Given the description of an element on the screen output the (x, y) to click on. 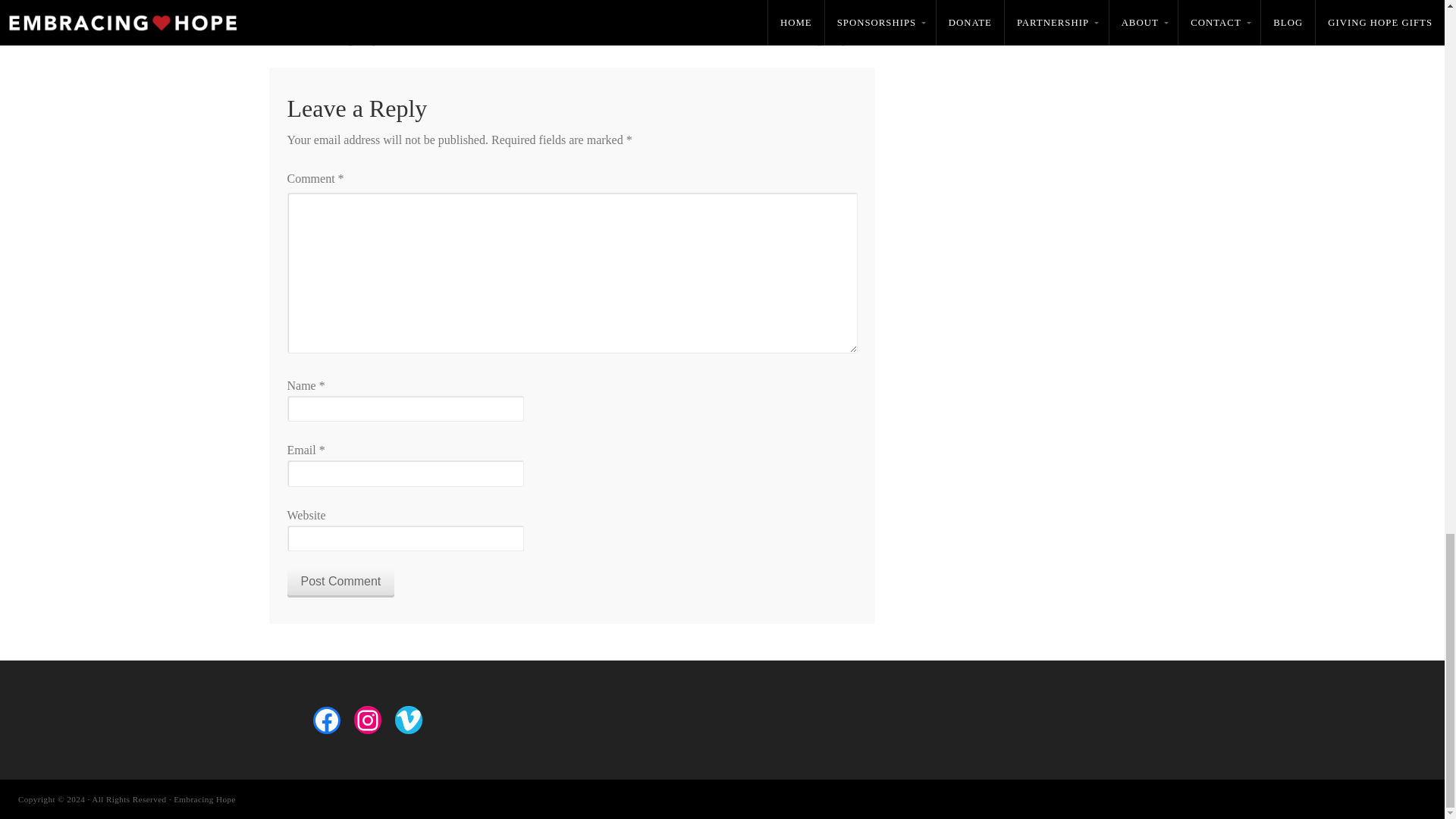
Blog Entries (440, 2)
Featured (493, 2)
Post Comment (340, 581)
Advent Readings Day 10 (805, 39)
Advent Readings Day 8 (334, 39)
Vimeo (408, 719)
Post Comment (340, 581)
Instagram (366, 719)
Advent Readings (371, 2)
Facebook (326, 719)
